Given the description of an element on the screen output the (x, y) to click on. 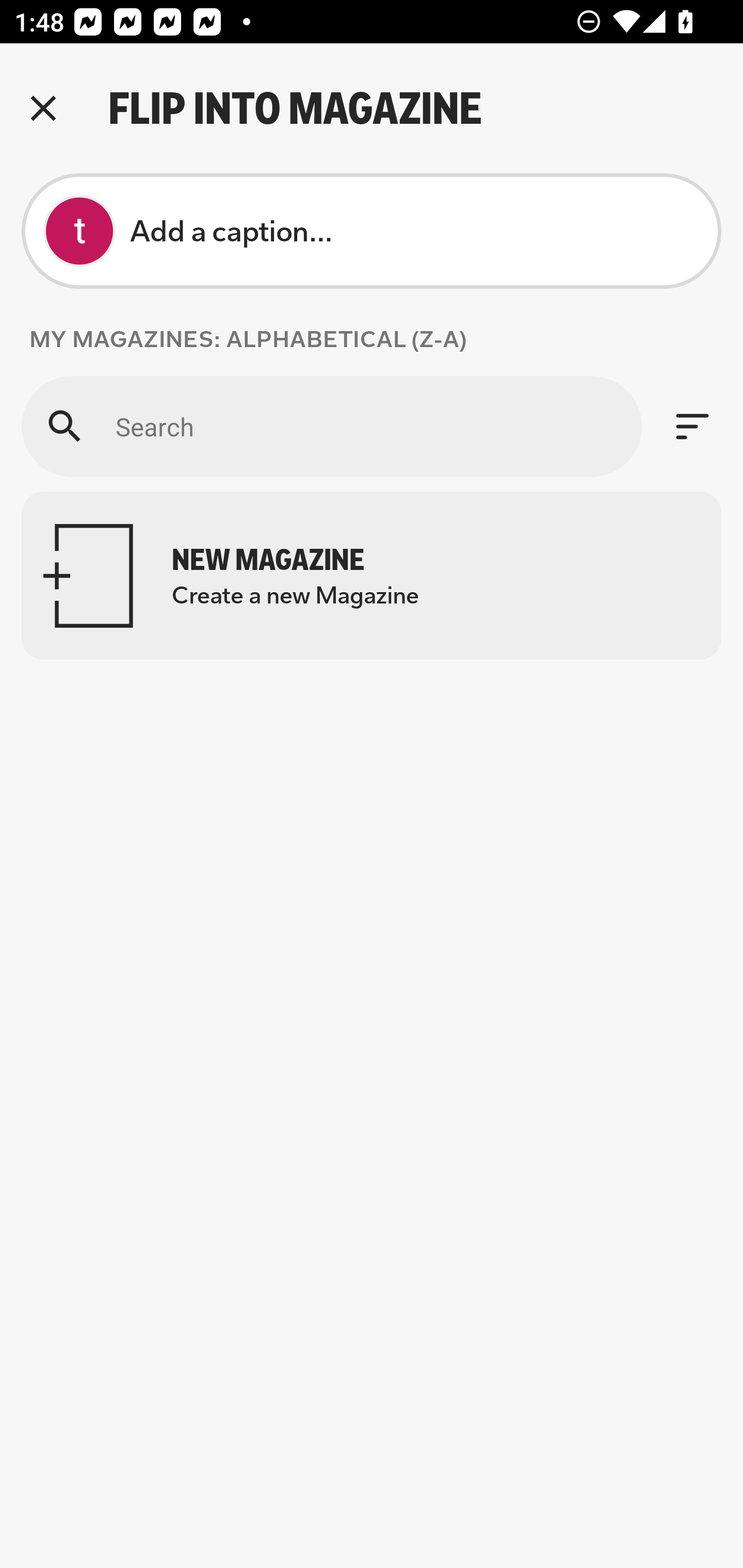
test appium Add a caption… (371, 231)
Search (331, 426)
NEW MAGAZINE Create a new Magazine (371, 575)
